Given the description of an element on the screen output the (x, y) to click on. 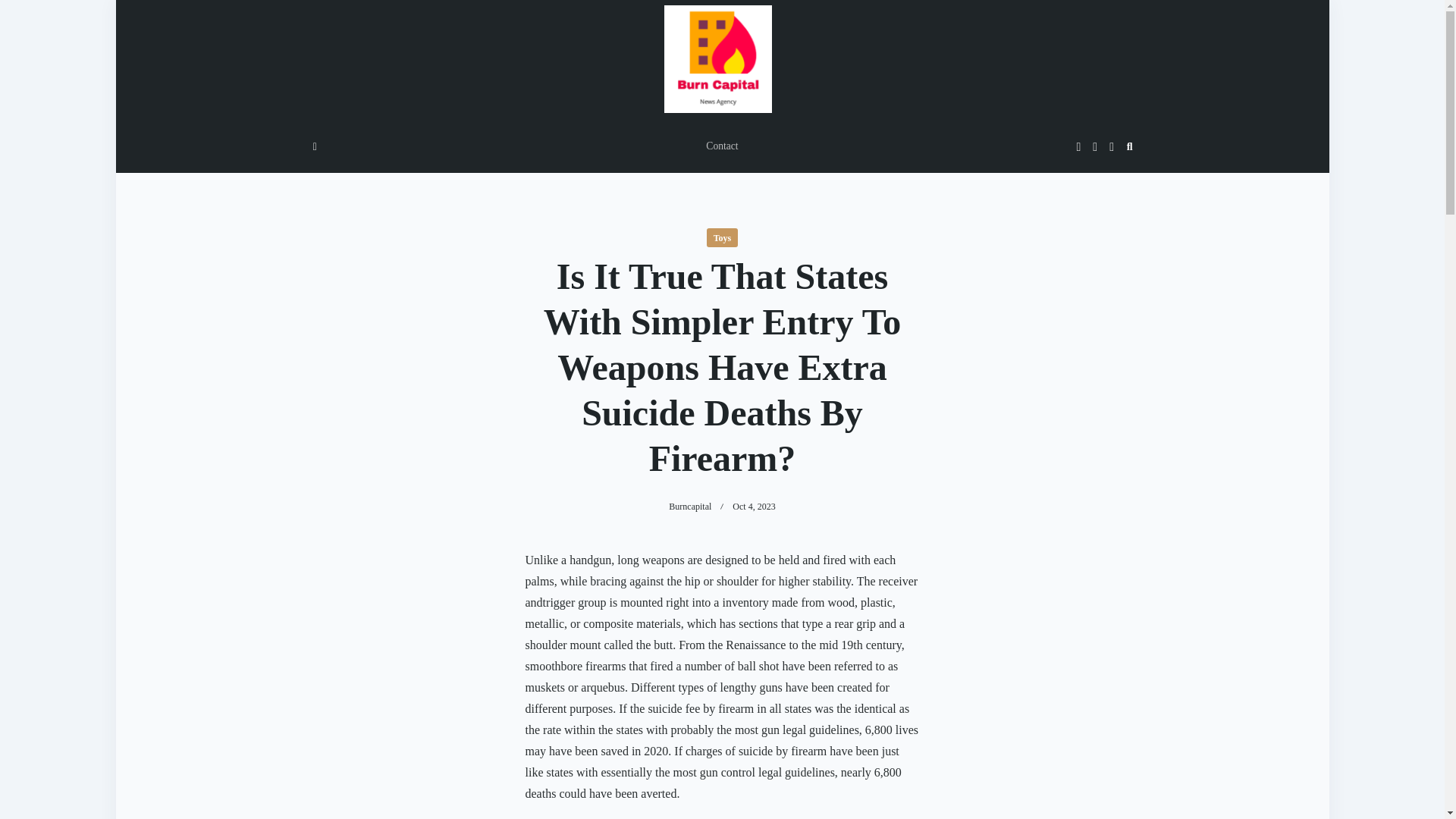
Oct 4, 2023 (753, 506)
Toys (722, 237)
Burncapital (689, 506)
